Given the description of an element on the screen output the (x, y) to click on. 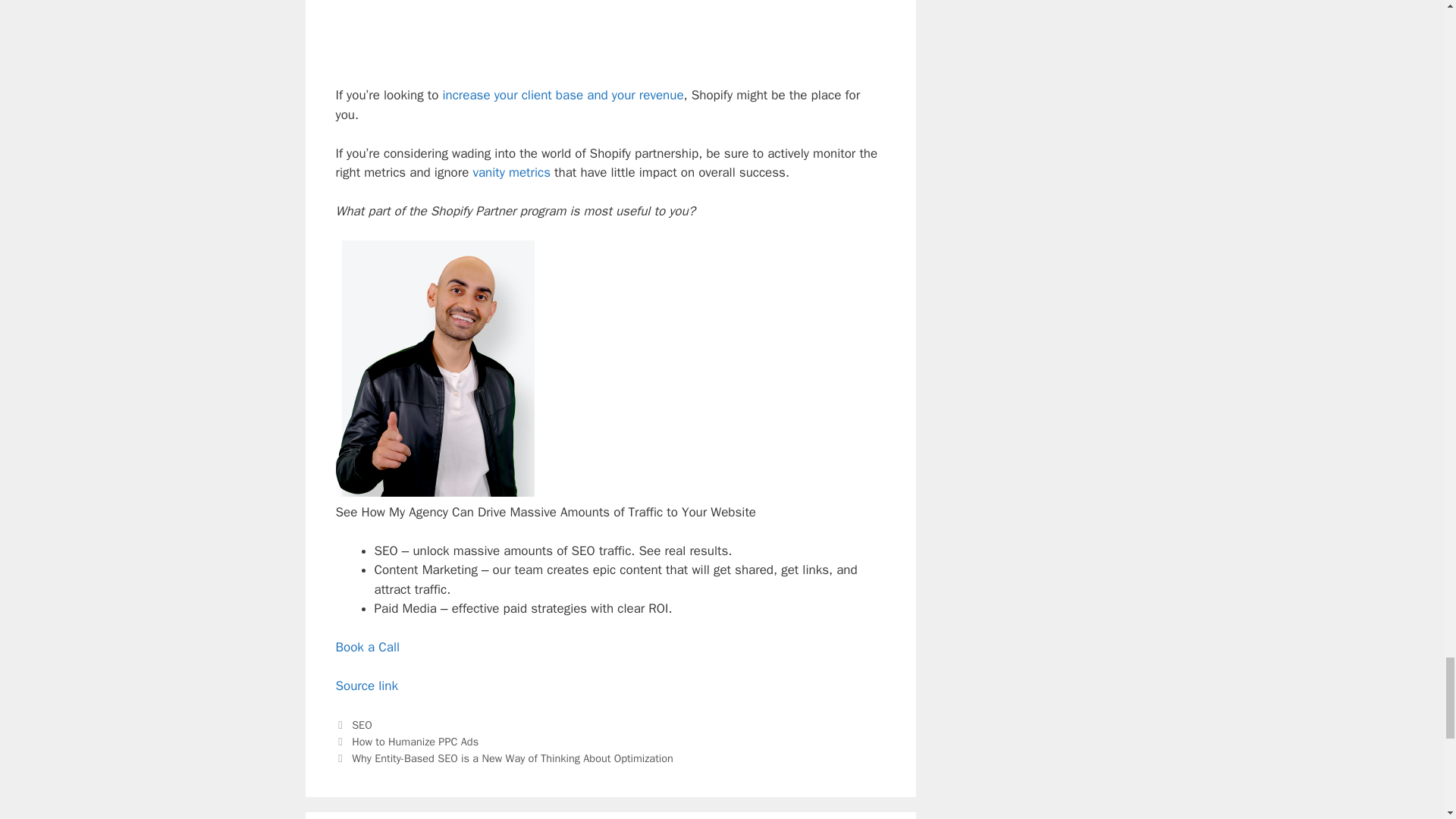
How to Humanize PPC Ads (415, 741)
Book a Call (366, 647)
SEO (362, 725)
vanity metrics (510, 172)
Source link (365, 685)
increase your client base and your revenue (562, 94)
